Given the description of an element on the screen output the (x, y) to click on. 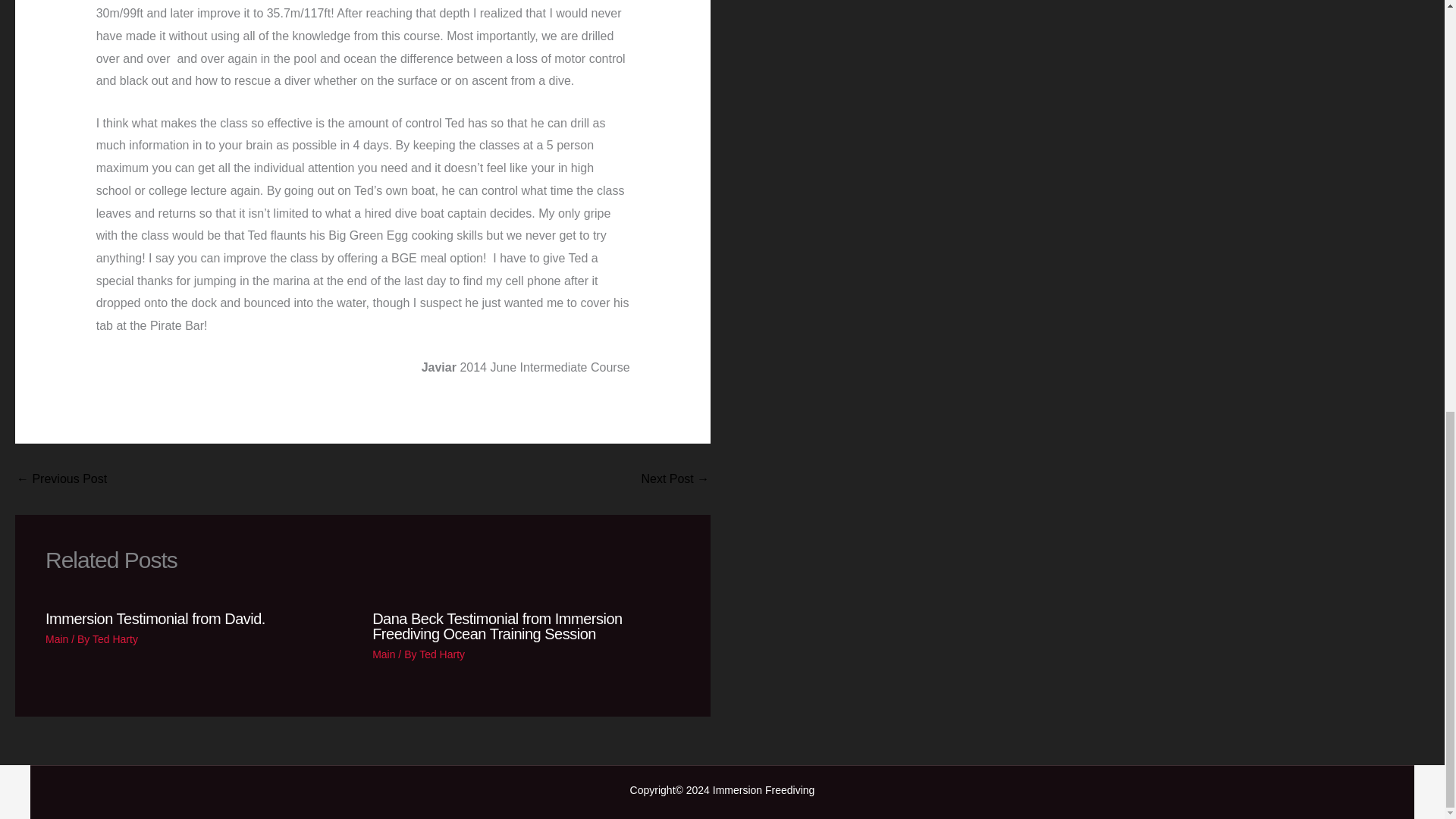
Immersion Testimonial from David. (154, 618)
Norros Orgeron - Spearo (61, 479)
Main (56, 639)
Ted Harty (441, 654)
Stephen Durand- Ocean Training Session (674, 479)
Ted Harty (115, 639)
Main (383, 654)
View all posts by Ted Harty (441, 654)
View all posts by Ted Harty (115, 639)
